Given the description of an element on the screen output the (x, y) to click on. 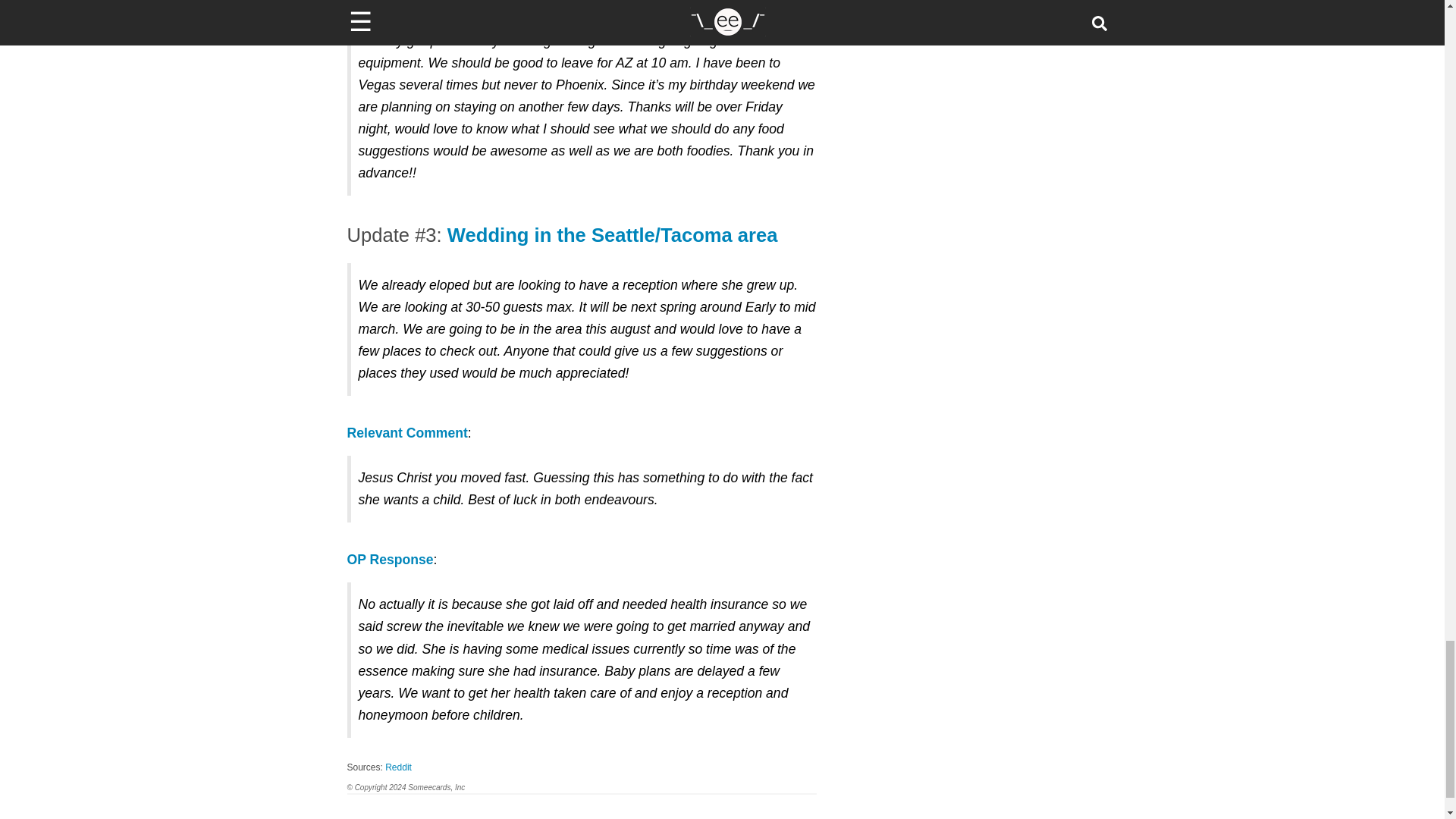
Reddit (398, 767)
OP Response (390, 559)
Relevant Comment (407, 432)
